Given the description of an element on the screen output the (x, y) to click on. 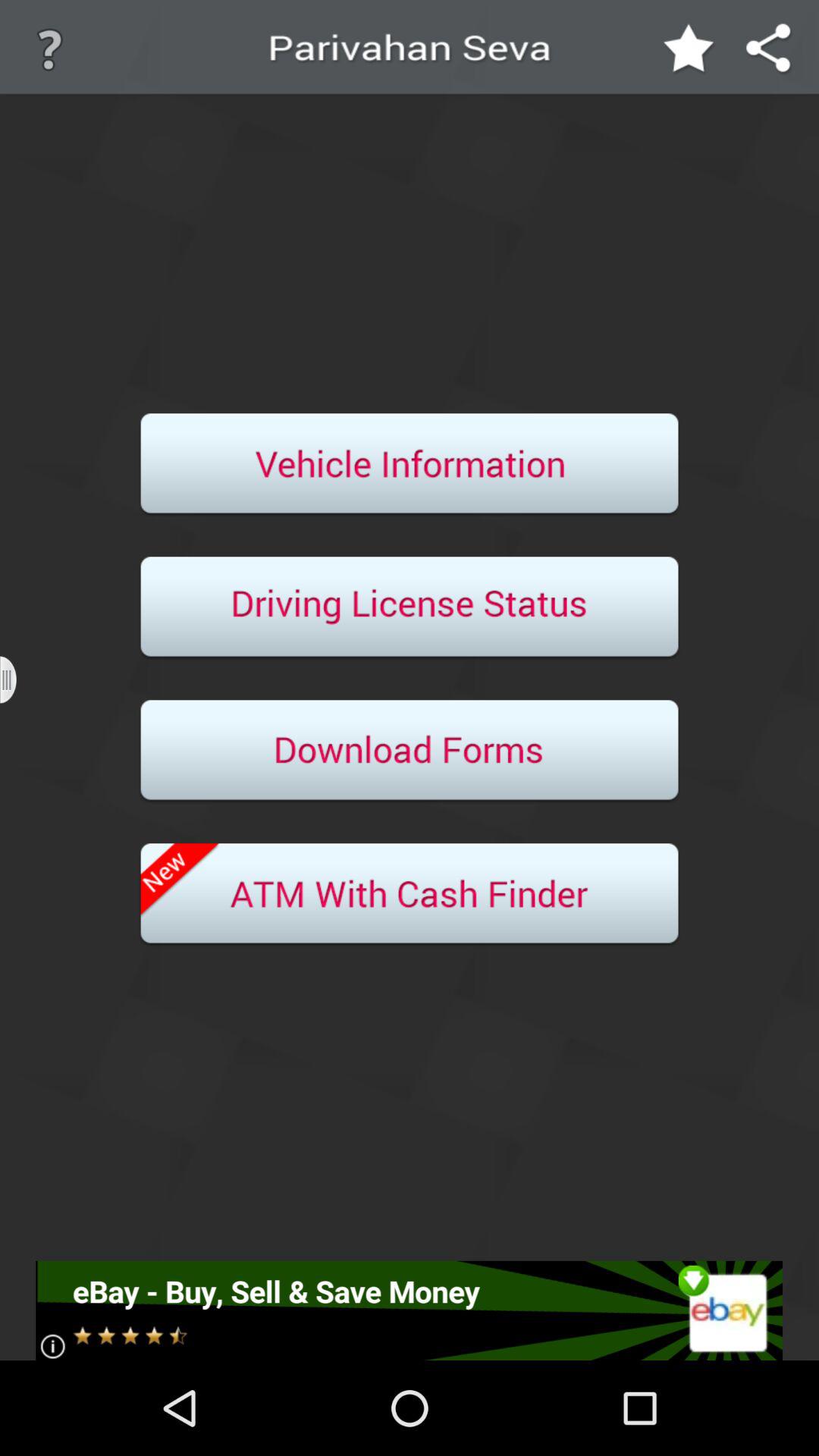
informaion about a vehicle (409, 464)
